Given the description of an element on the screen output the (x, y) to click on. 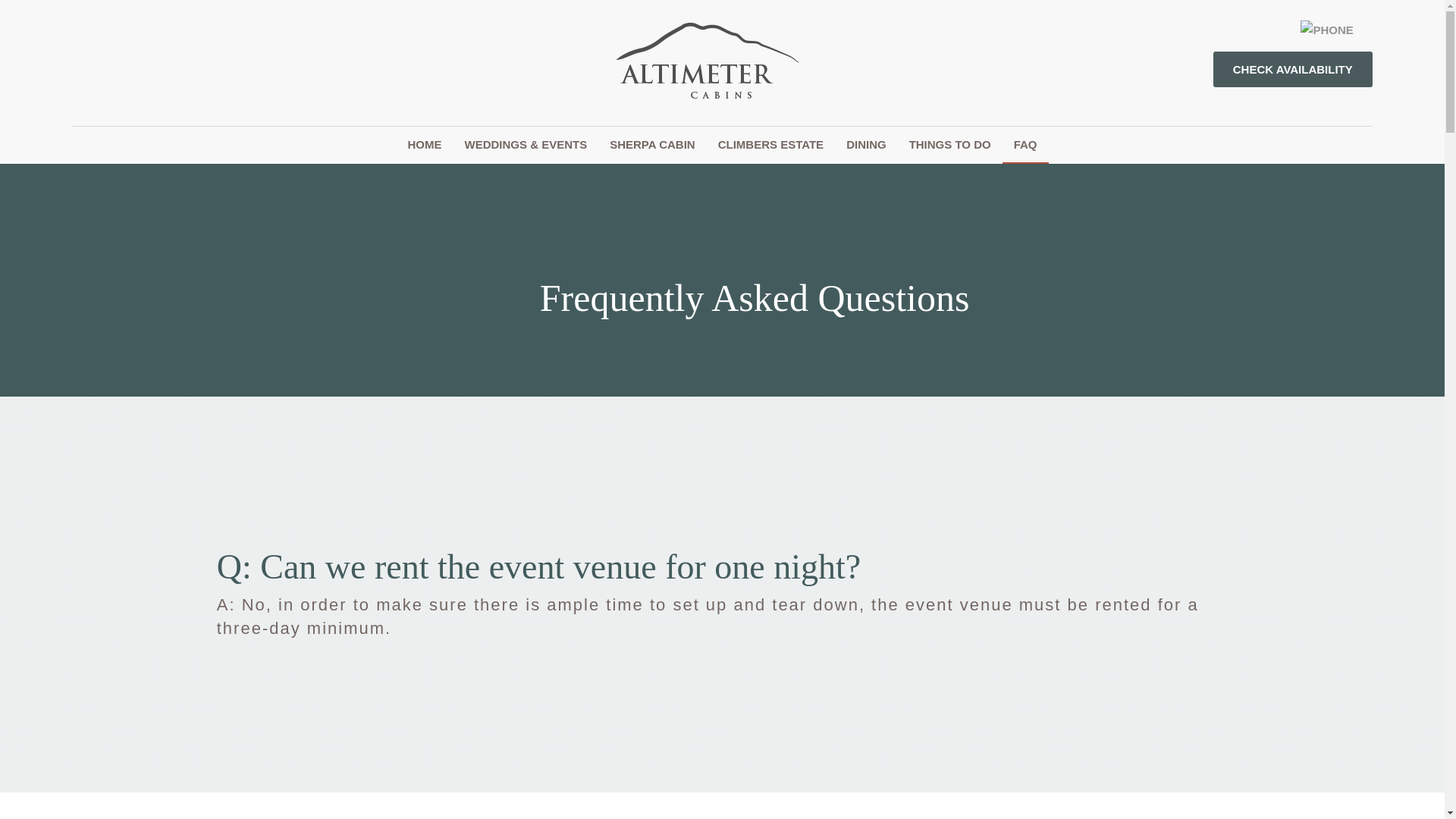
HOME (424, 144)
FAQ (1025, 144)
CLIMBERS ESTATE (770, 144)
DINING (866, 144)
SHERPA CABIN (652, 144)
THINGS TO DO (950, 144)
CHECK AVAILABILITY (1292, 68)
